Given the description of an element on the screen output the (x, y) to click on. 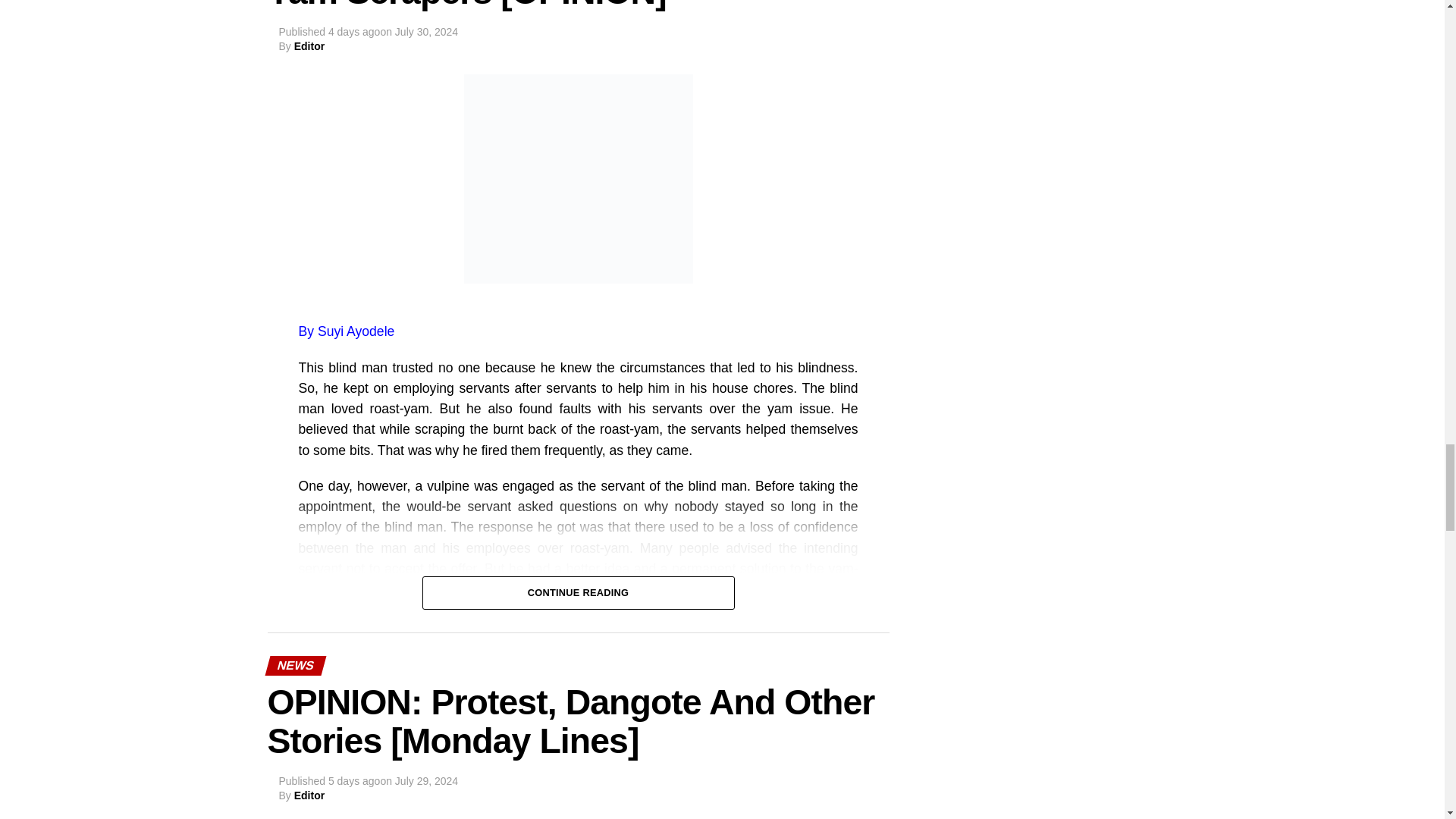
Posts by Editor (309, 46)
